Given the description of an element on the screen output the (x, y) to click on. 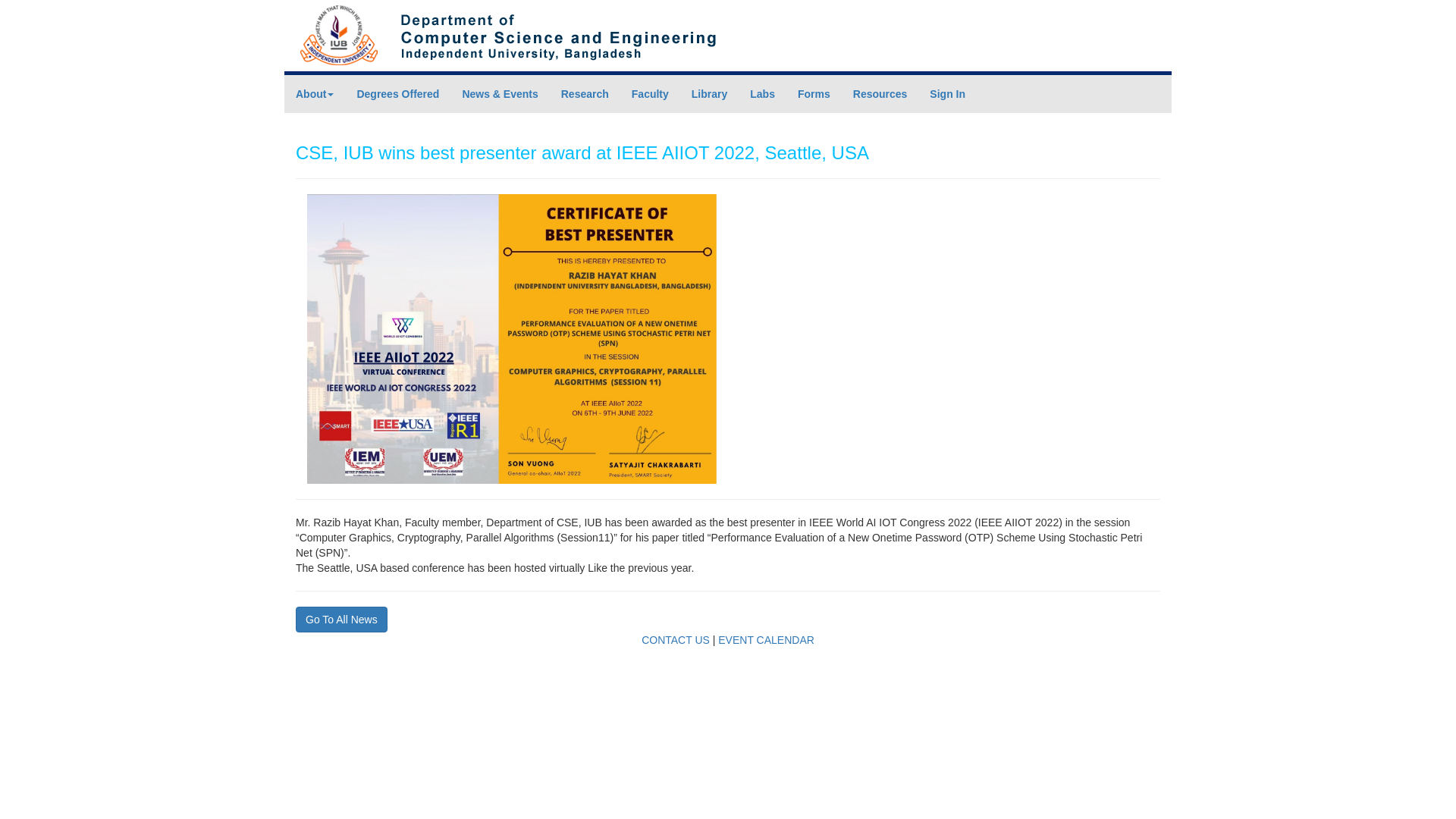
Research Element type: text (584, 93)
EVENT CALENDAR Element type: text (766, 639)
Resources Element type: text (880, 93)
Go To All News Element type: text (341, 619)
Faculty Element type: text (650, 93)
News & Events Element type: text (499, 93)
Library Element type: text (709, 93)
CONTACT US Element type: text (675, 639)
Labs Element type: text (762, 93)
Sign In Element type: text (947, 93)
About Element type: text (314, 93)
Forms Element type: text (813, 93)
Degrees Offered Element type: text (397, 93)
